Given the description of an element on the screen output the (x, y) to click on. 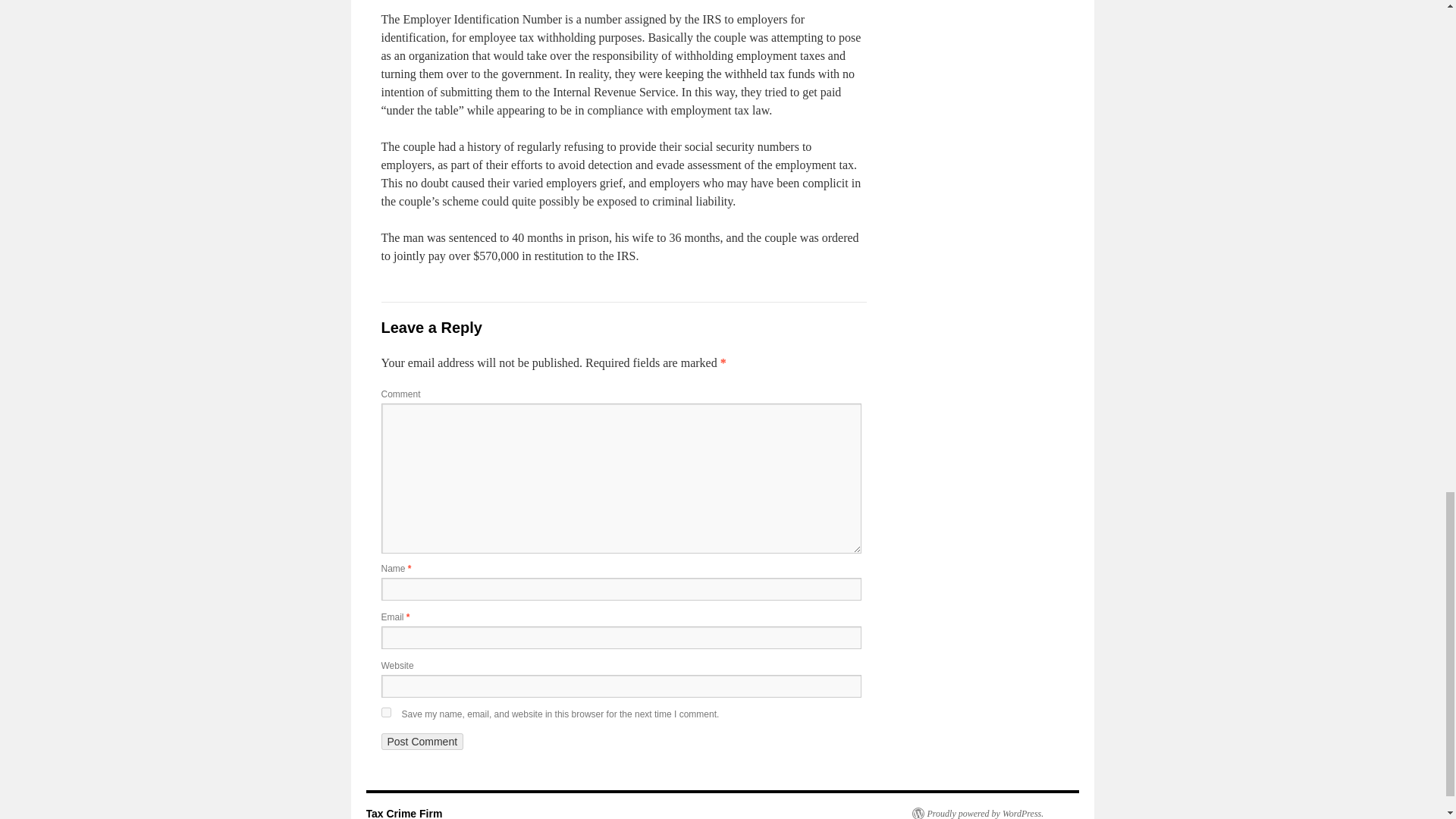
yes (385, 712)
Post Comment (421, 741)
Post Comment (421, 741)
